Given the description of an element on the screen output the (x, y) to click on. 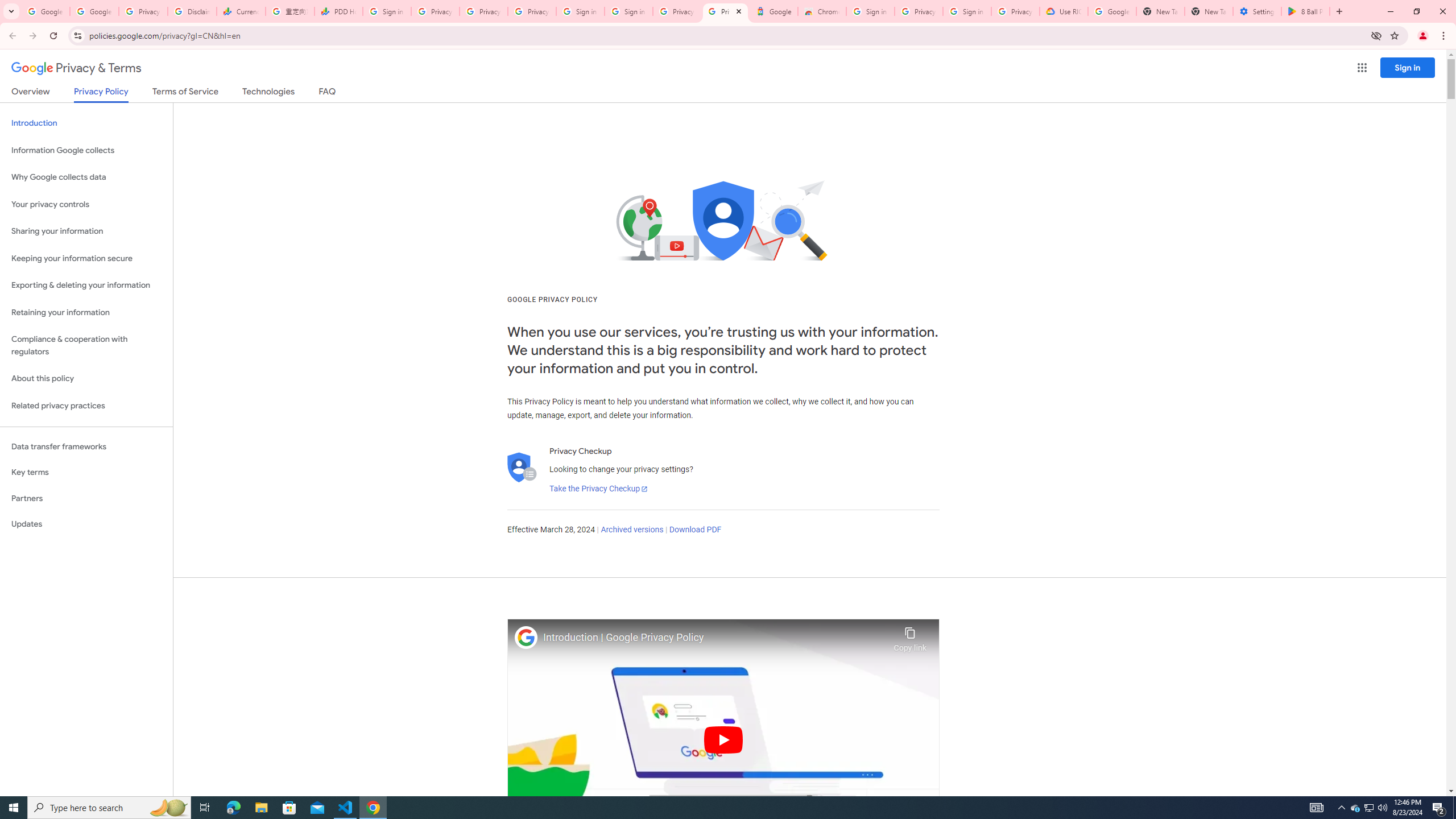
PDD Holdings Inc - ADR (PDD) Price & News - Google Finance (338, 11)
Copy link (909, 636)
Chrome Web Store - Color themes by Chrome (822, 11)
Privacy Checkup (483, 11)
